Given the description of an element on the screen output the (x, y) to click on. 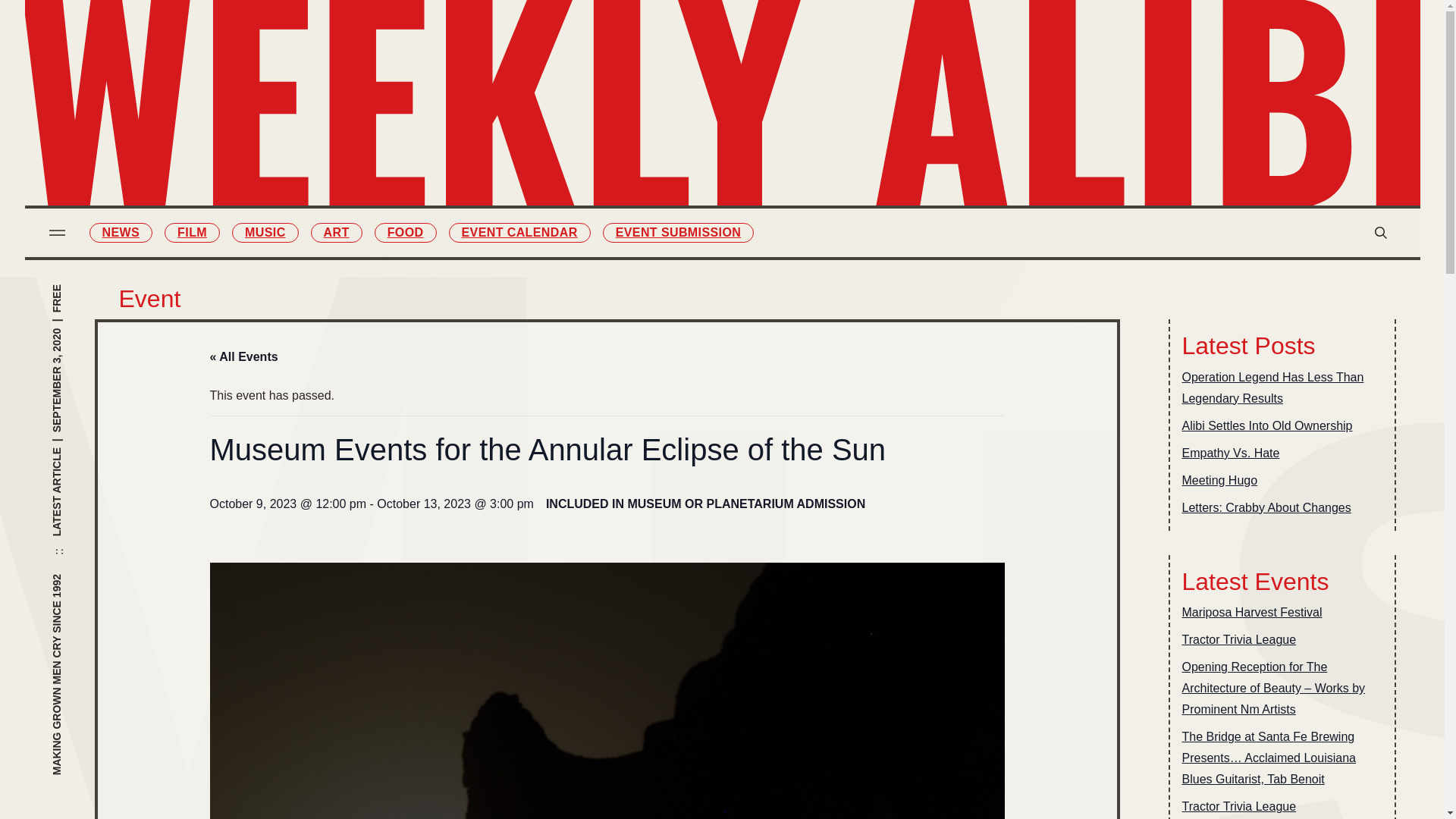
EVENTS (803, 147)
BUSINESS (803, 115)
MOVIE REVIEWS (803, 51)
FILM (640, 83)
Meeting Hugo (1218, 480)
Alibi Settles Into Old Ownership (1266, 425)
BOOK REVIEWS (803, 83)
NEWS (120, 232)
Operation Legend Has Less Than Legendary Results (1280, 387)
EVENT CALENDAR (519, 232)
FOOD (640, 178)
CANNABIS (640, 210)
ART (336, 232)
MUSIC (264, 232)
Empathy Vs. Hate (1229, 453)
